Given the description of an element on the screen output the (x, y) to click on. 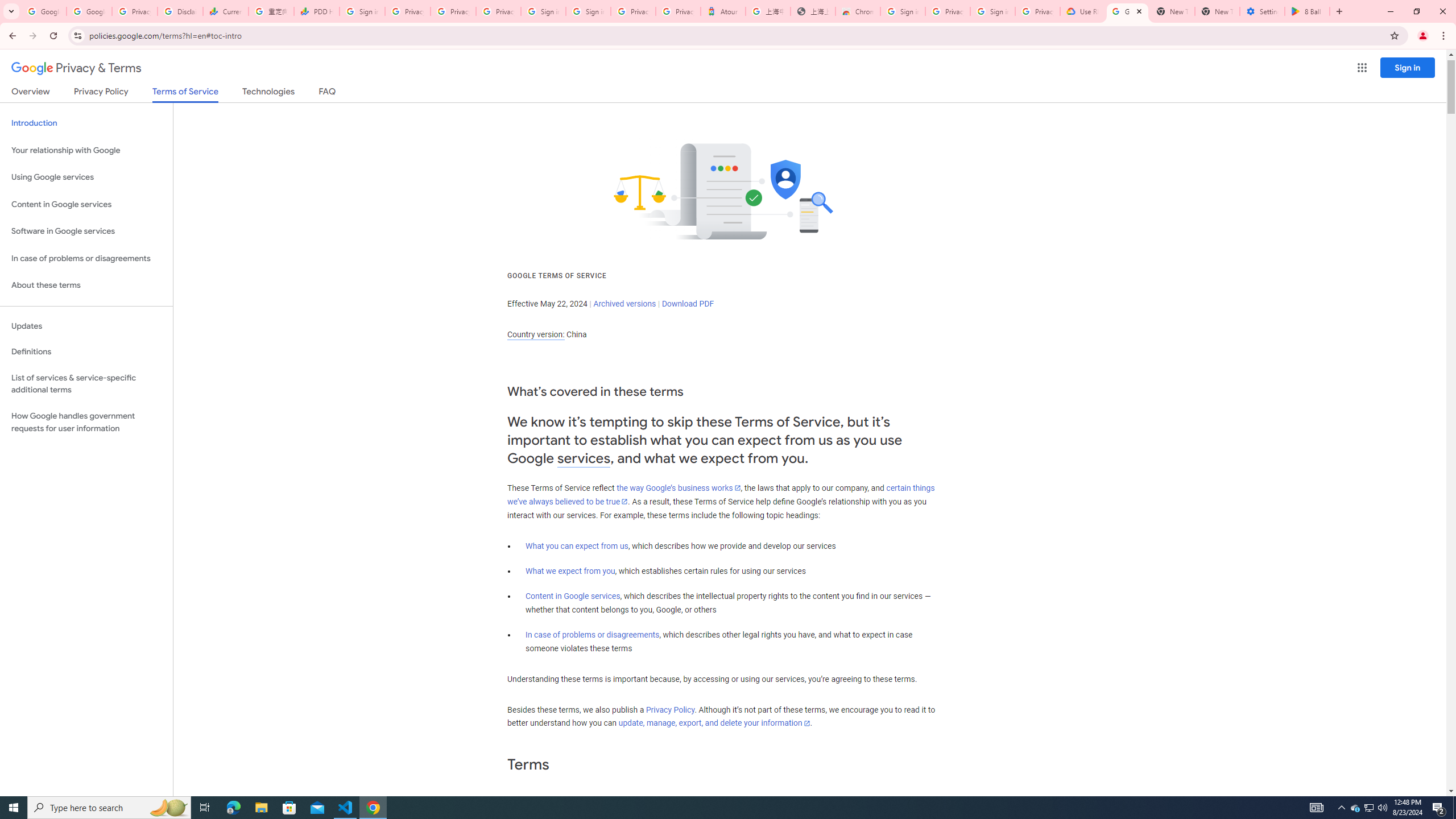
In case of problems or disagreements (592, 634)
services (583, 458)
Privacy Checkup (452, 11)
Sign in - Google Accounts (992, 11)
Sign in - Google Accounts (362, 11)
Software in Google services (86, 230)
